Given the description of an element on the screen output the (x, y) to click on. 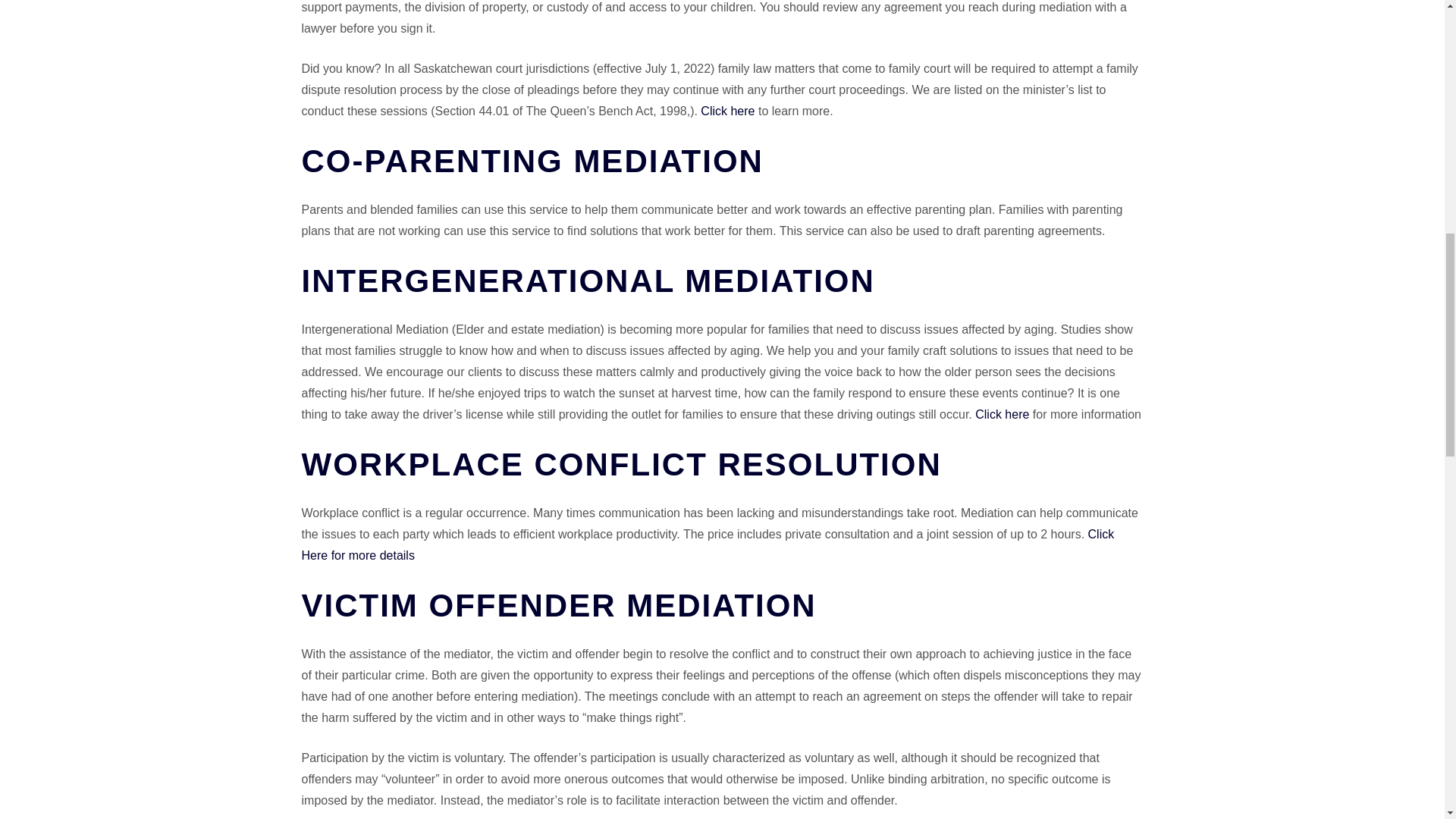
Click here (1002, 413)
Click here (727, 110)
Click Here for more details (708, 544)
